Given the description of an element on the screen output the (x, y) to click on. 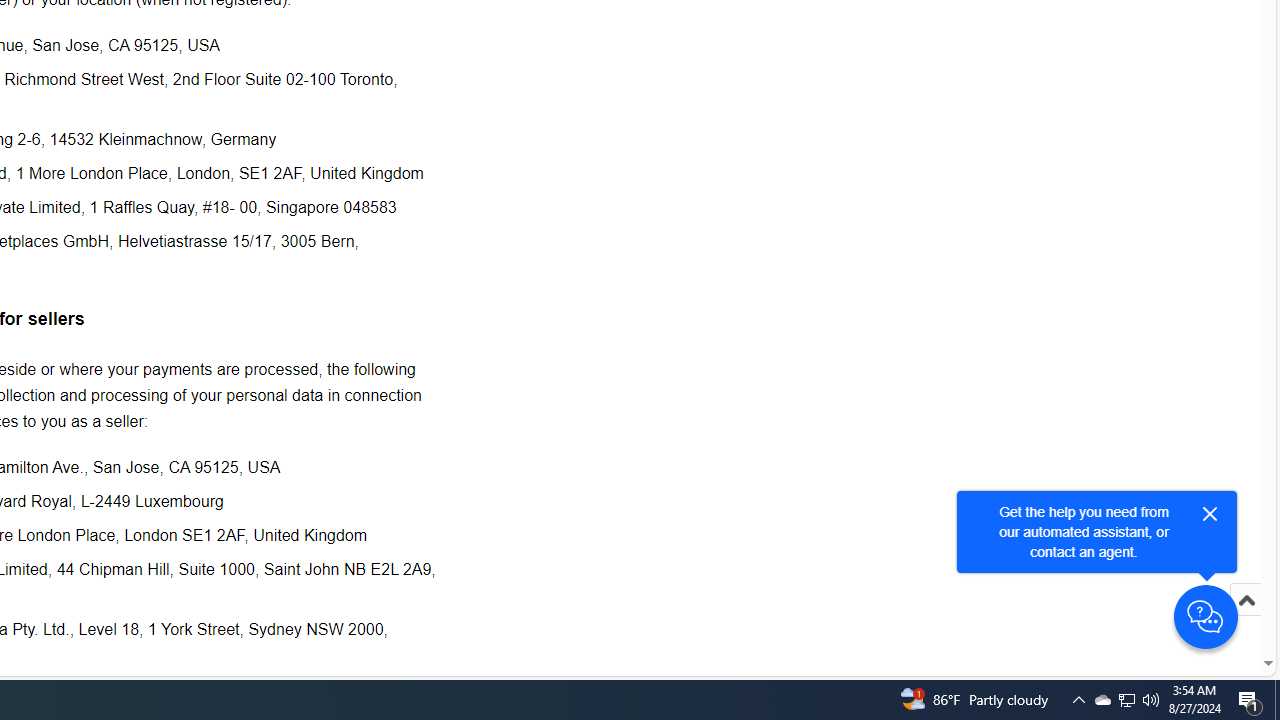
Scroll to top (1246, 620)
Scroll to top (1246, 599)
